Given the description of an element on the screen output the (x, y) to click on. 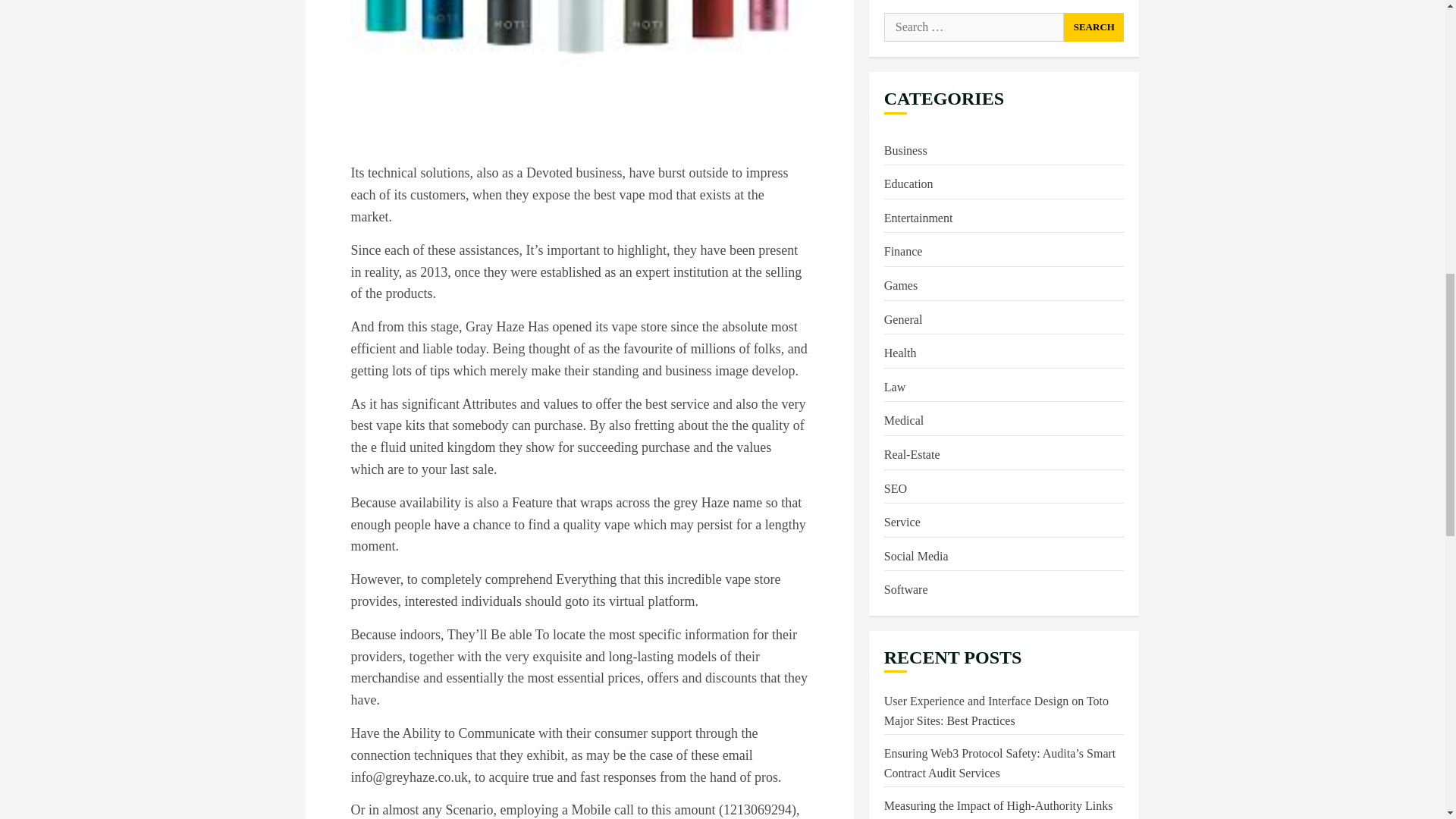
Software (905, 18)
